Given the description of an element on the screen output the (x, y) to click on. 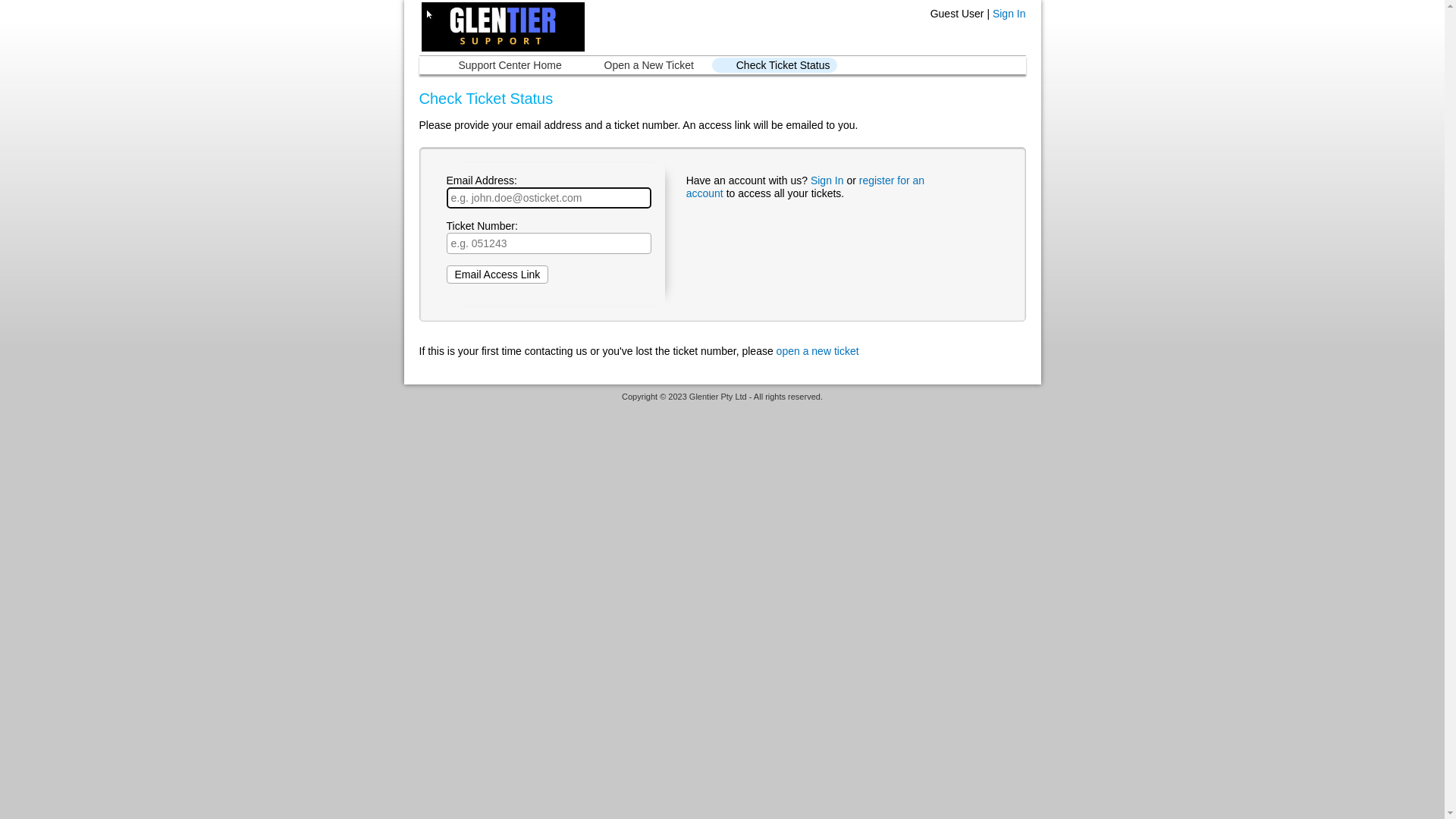
Open a New Ticket Element type: text (640, 64)
open a new ticket Element type: text (817, 351)
Helpdesk software - powered by osTicket Element type: text (722, 410)
Support Center Element type: hover (500, 26)
Check Ticket Status Element type: text (774, 64)
Support Center Home Element type: text (500, 64)
Sign In Element type: text (827, 180)
register for an account Element type: text (805, 186)
Sign In Element type: text (1009, 13)
Email Access Link Element type: text (496, 274)
